Given the description of an element on the screen output the (x, y) to click on. 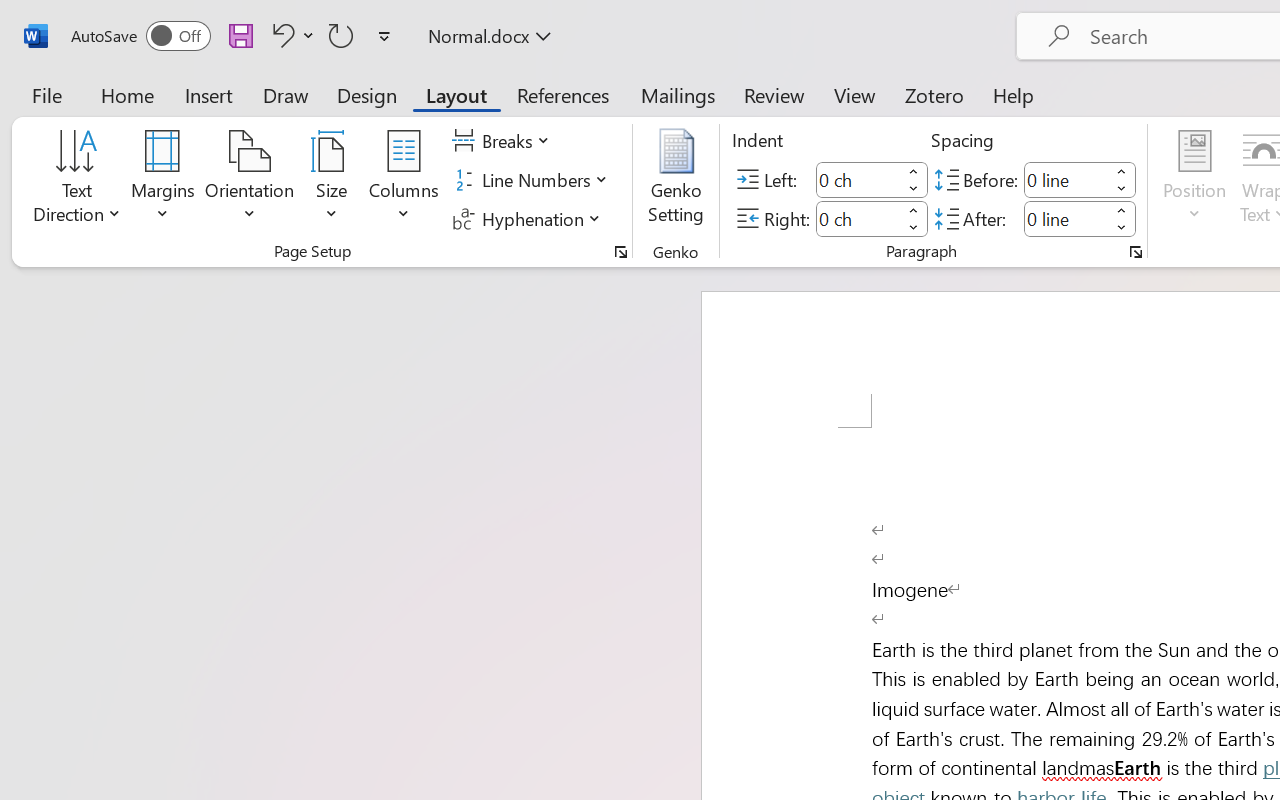
Genko Setting... (676, 179)
Undo Paste Destination Formatting (290, 35)
Line Numbers (532, 179)
Paragraph... (1135, 252)
Repeat Paste Option (341, 35)
More (1121, 210)
Undo Paste Destination Formatting (280, 35)
Margins (163, 179)
Columns (404, 179)
